Given the description of an element on the screen output the (x, y) to click on. 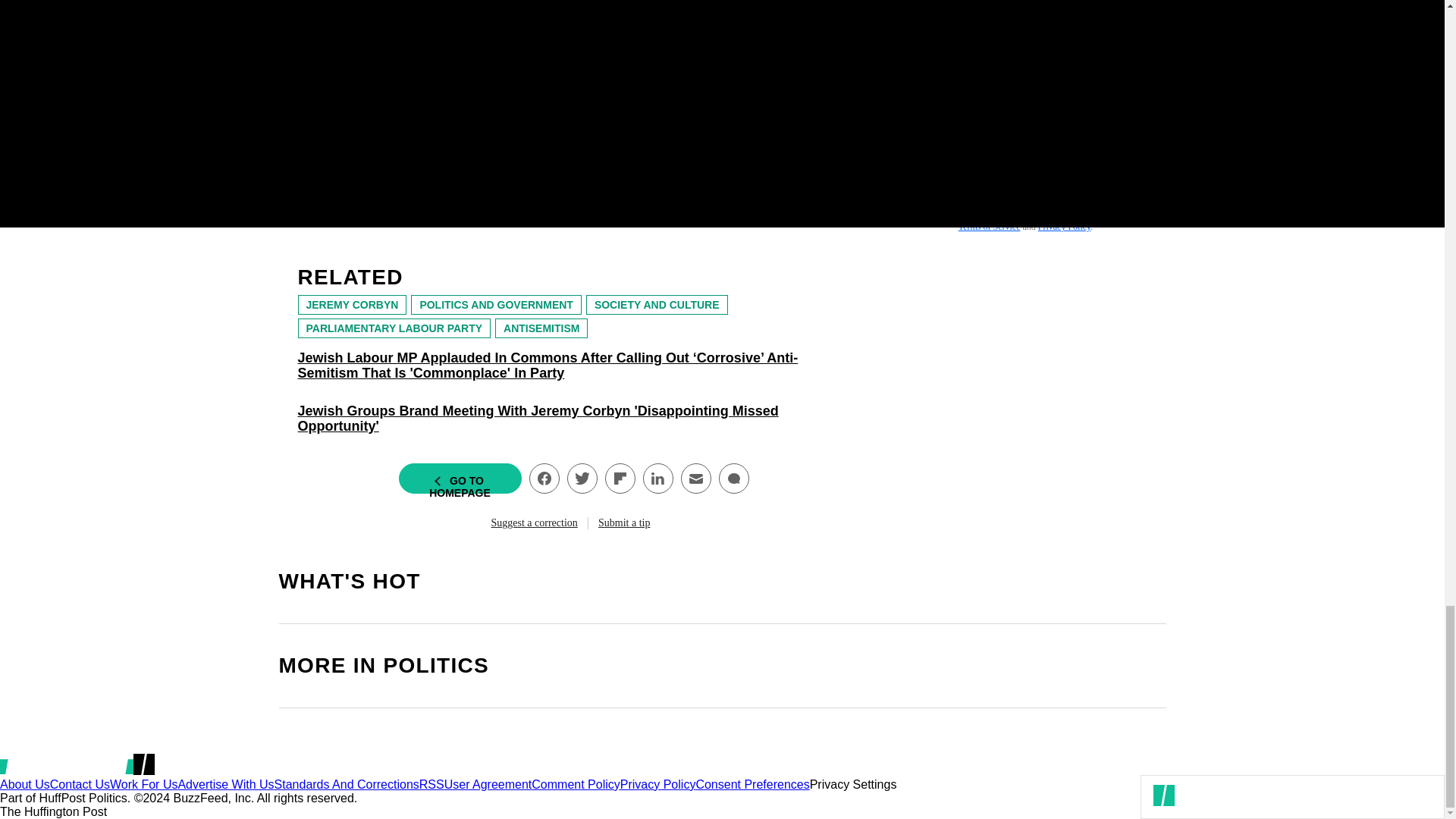
SIGN UP (1098, 166)
